Given the description of an element on the screen output the (x, y) to click on. 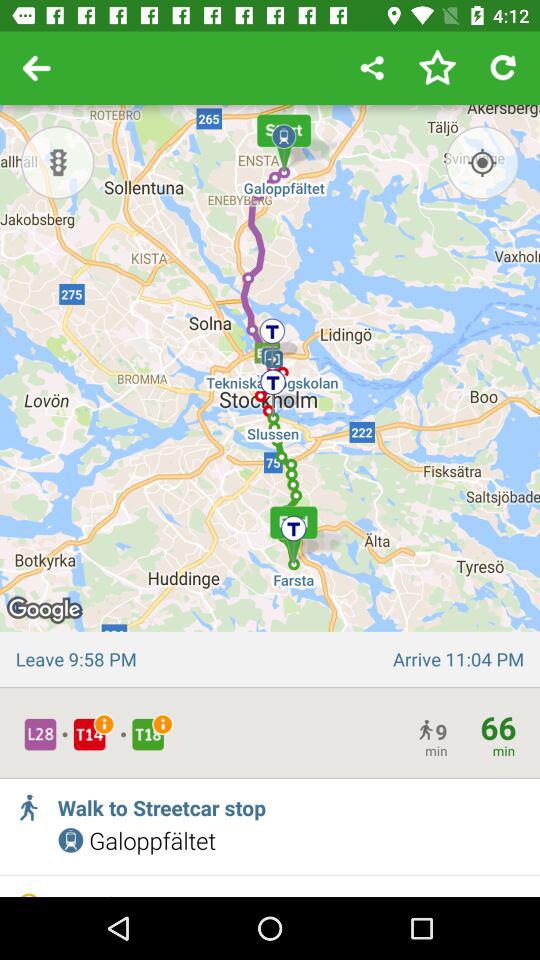
turn off the icon at the center (270, 395)
